Given the description of an element on the screen output the (x, y) to click on. 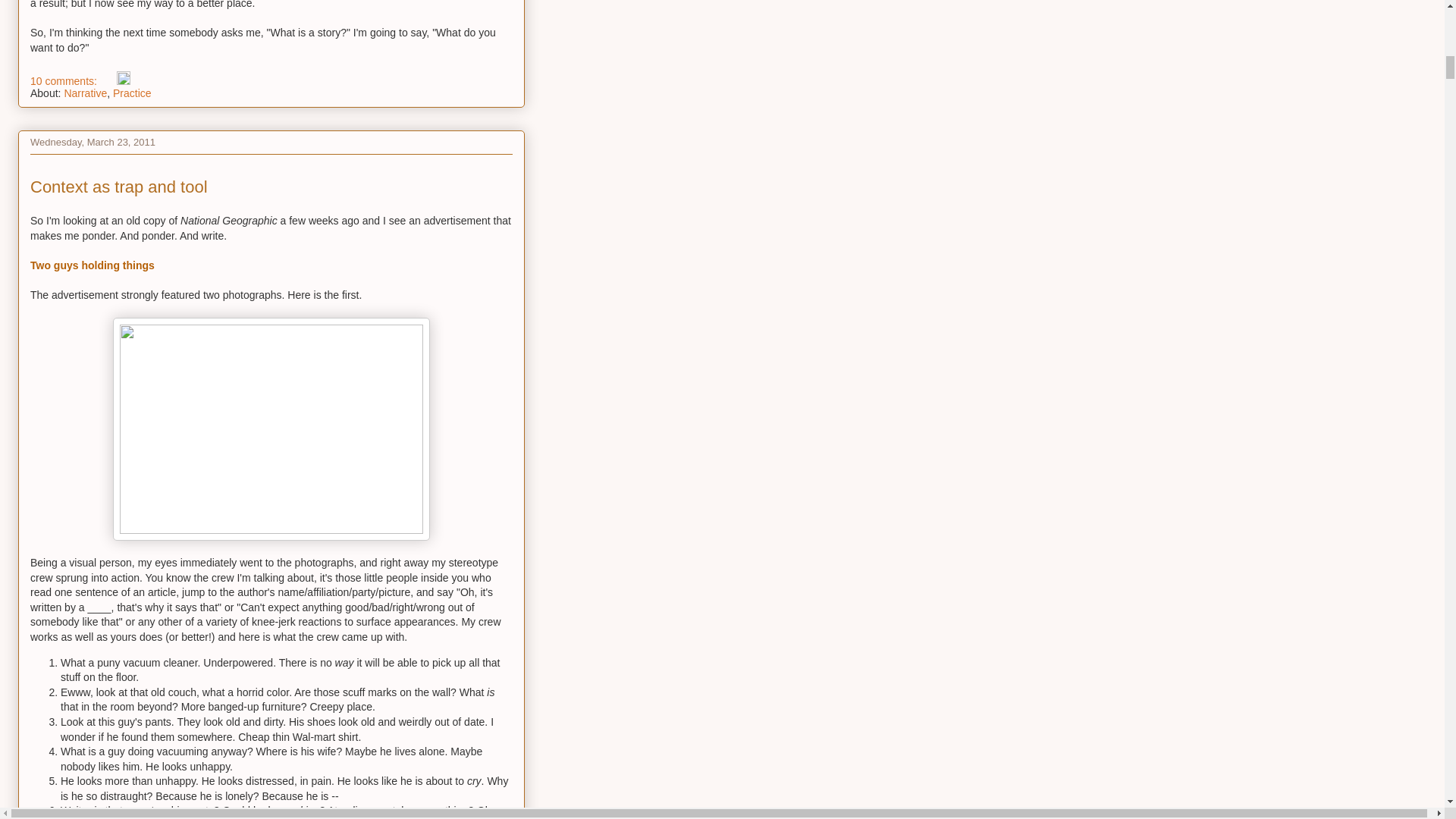
10 comments: (65, 80)
Edit Post (123, 80)
Practice (132, 92)
Narrative (85, 92)
Context as trap and tool (119, 186)
Email Post (108, 80)
